Given the description of an element on the screen output the (x, y) to click on. 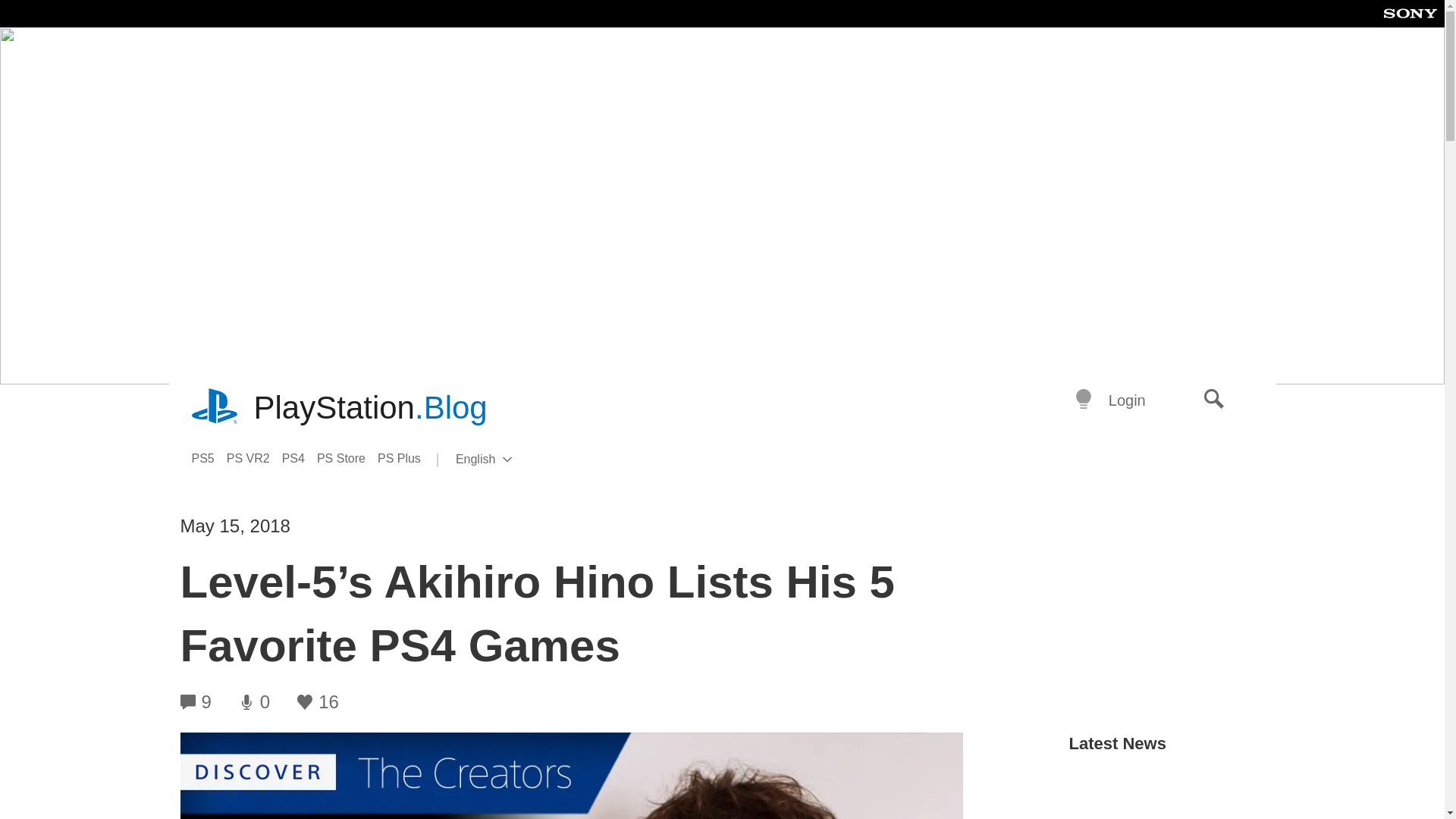
Login (1126, 400)
PlayStation.Blog (369, 407)
playstation.com (508, 459)
PS5 (215, 408)
Search (207, 458)
PS4 (1214, 400)
PS Plus (299, 458)
PS Store (404, 458)
